Given the description of an element on the screen output the (x, y) to click on. 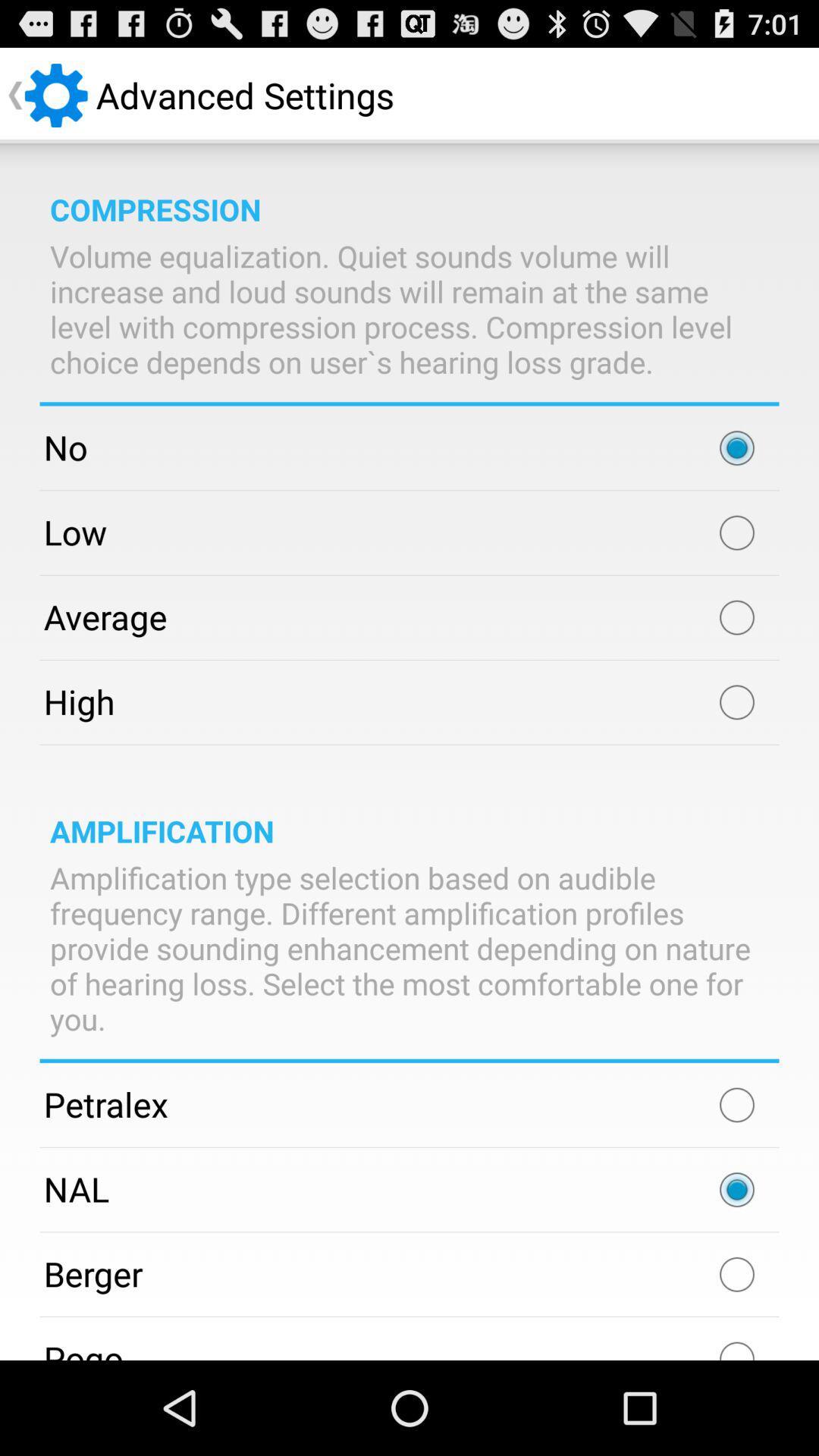
nal checkbox (736, 1189)
